Given the description of an element on the screen output the (x, y) to click on. 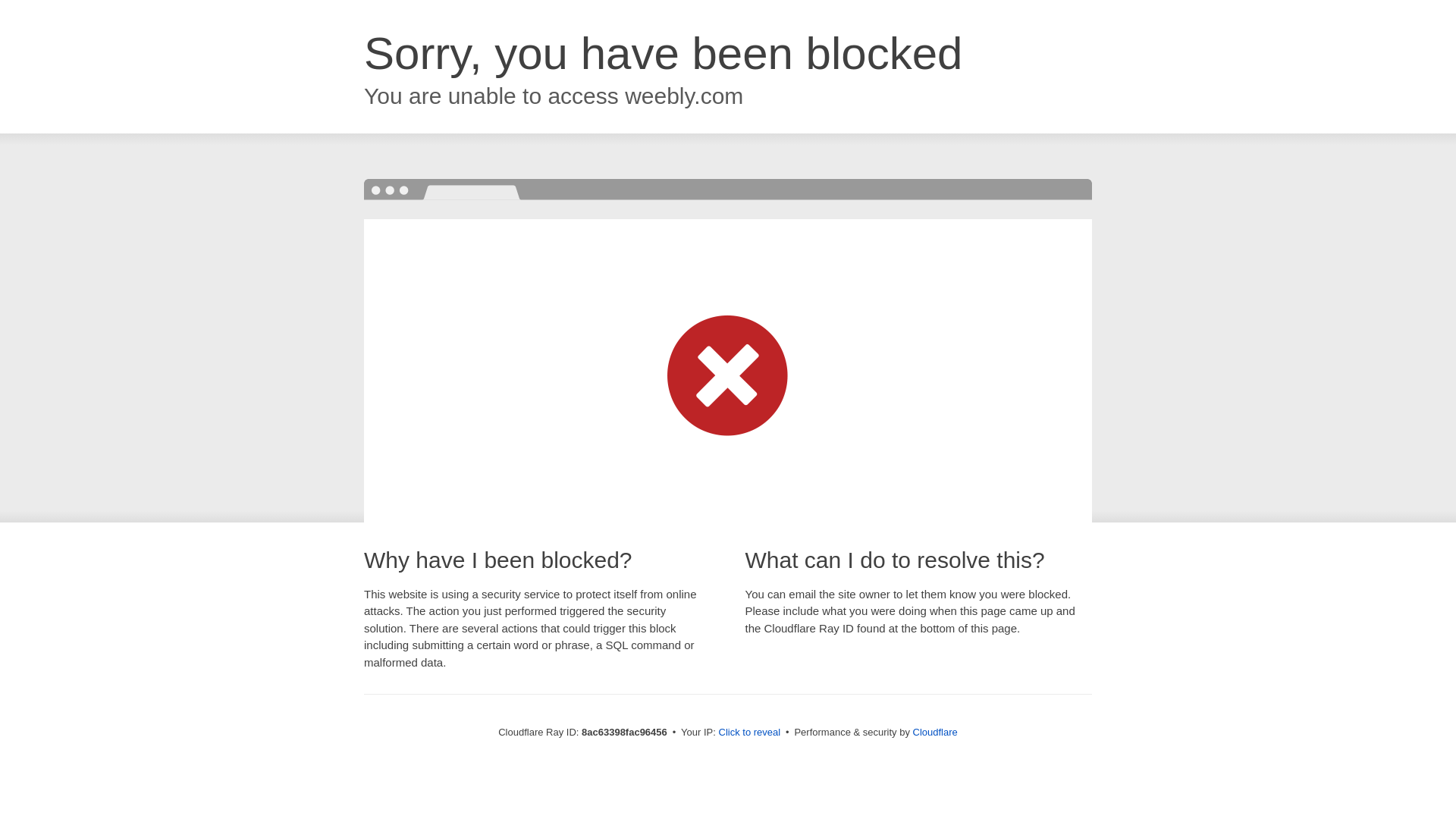
Click to reveal (749, 732)
Cloudflare (935, 731)
